Given the description of an element on the screen output the (x, y) to click on. 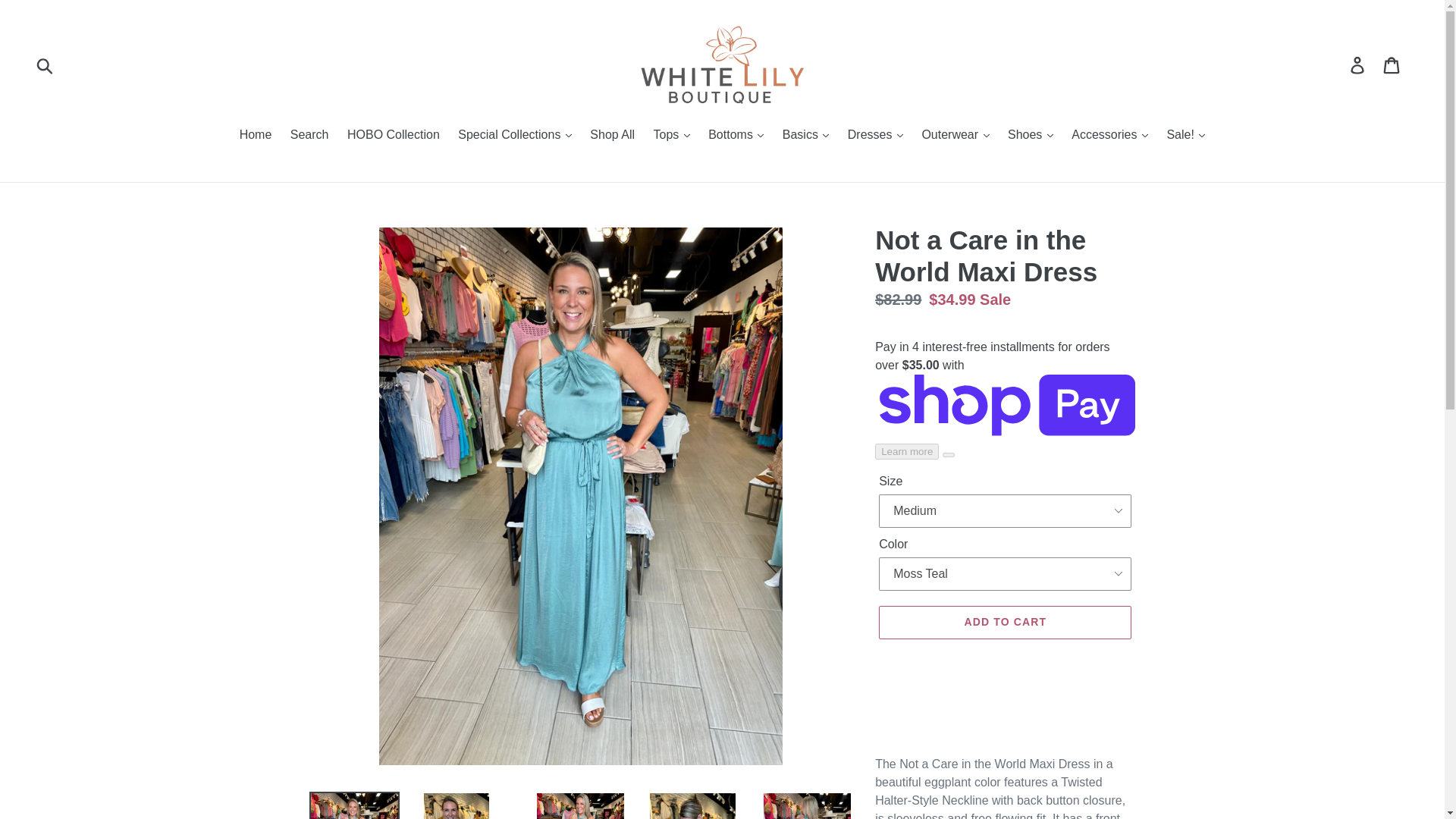
Log in (1357, 64)
Cart (1392, 64)
Submit (45, 64)
